Given the description of an element on the screen output the (x, y) to click on. 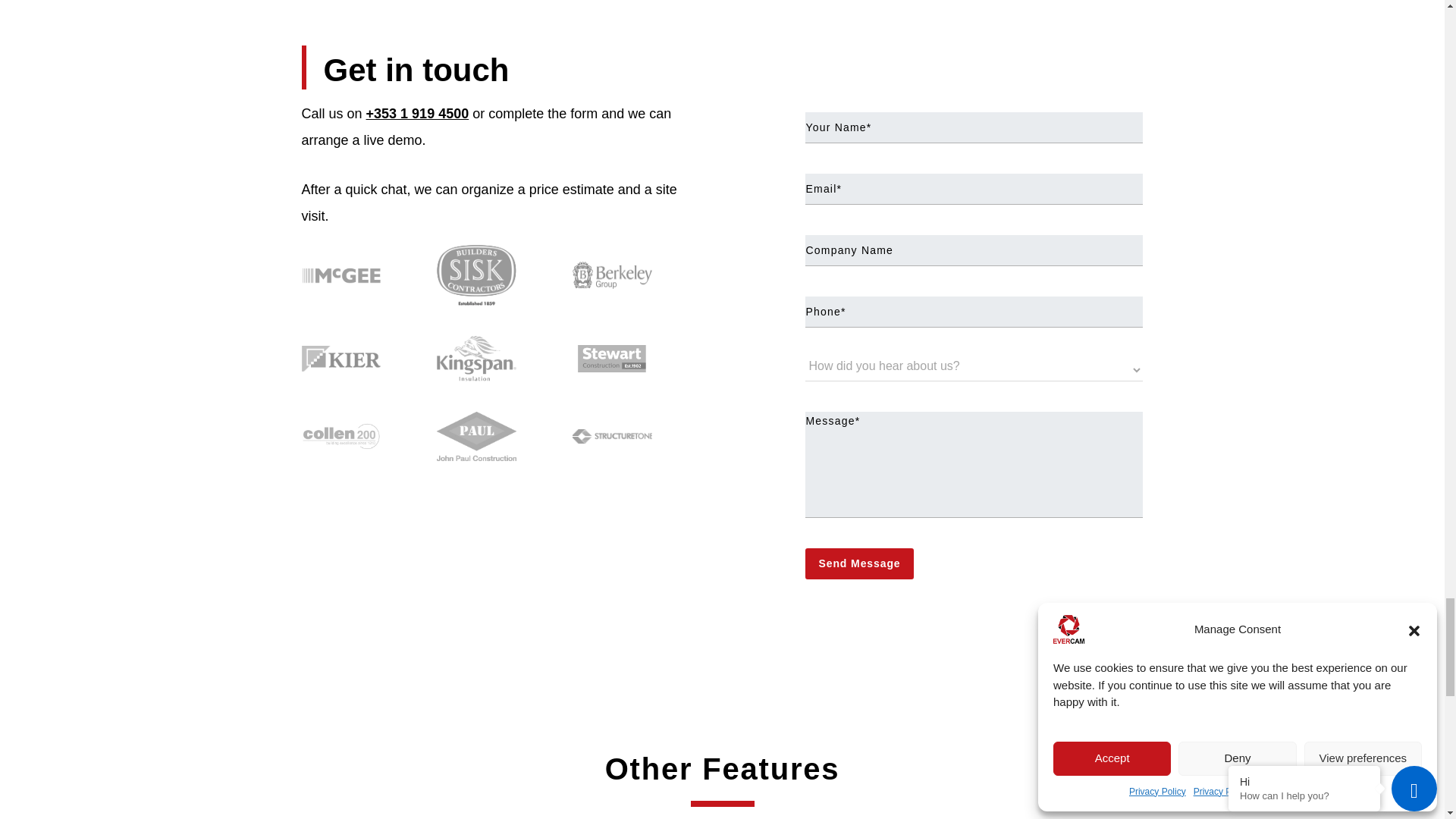
Send Message (858, 563)
